Given the description of an element on the screen output the (x, y) to click on. 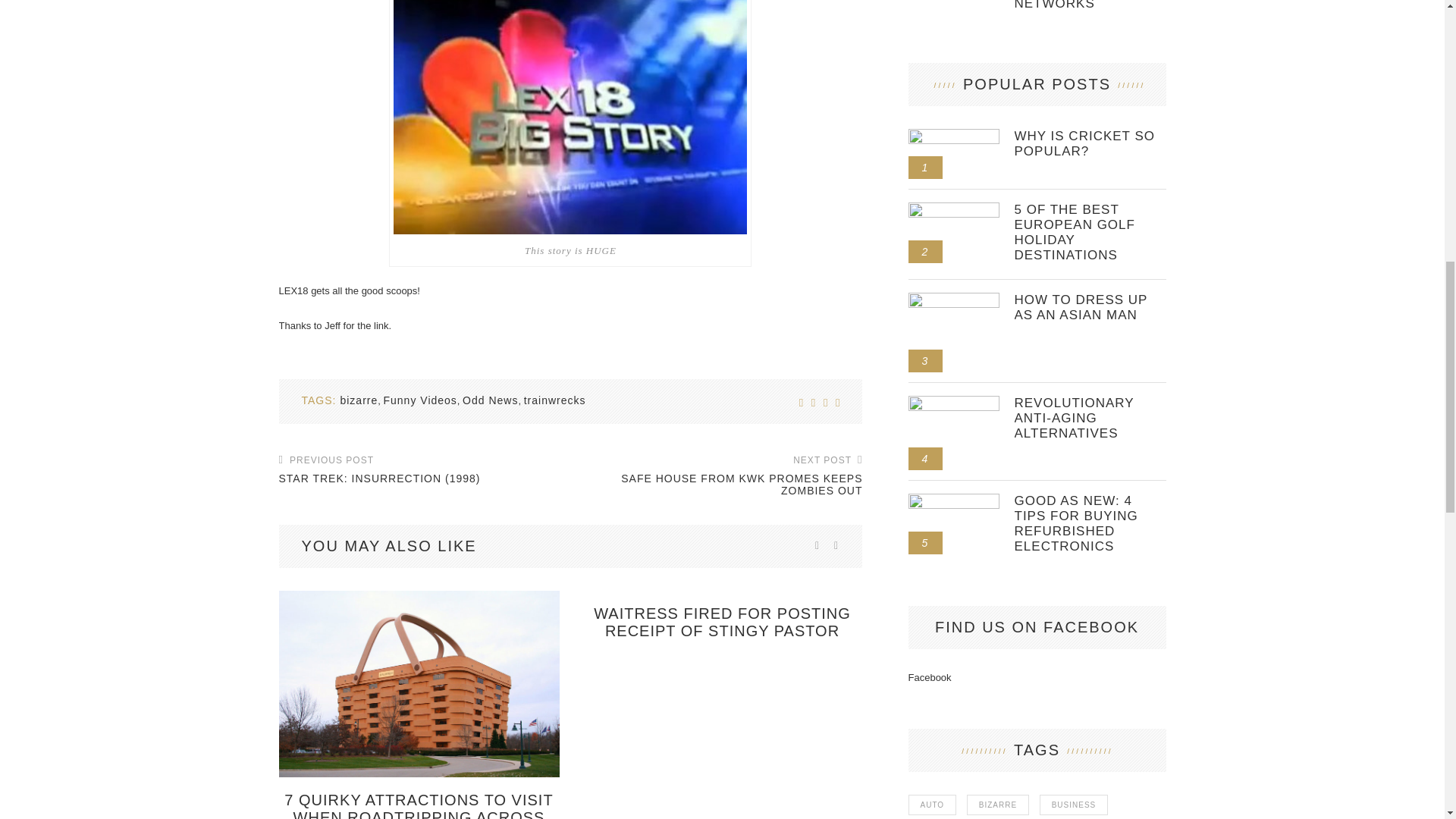
lex-18-big-story (569, 117)
5 of the Best European Golf Holiday Destinations (953, 208)
Why is cricket so popular? (953, 134)
Why is cricket so popular? (1090, 143)
5 of the Best European Golf Holiday Destinations (1090, 232)
